Given the description of an element on the screen output the (x, y) to click on. 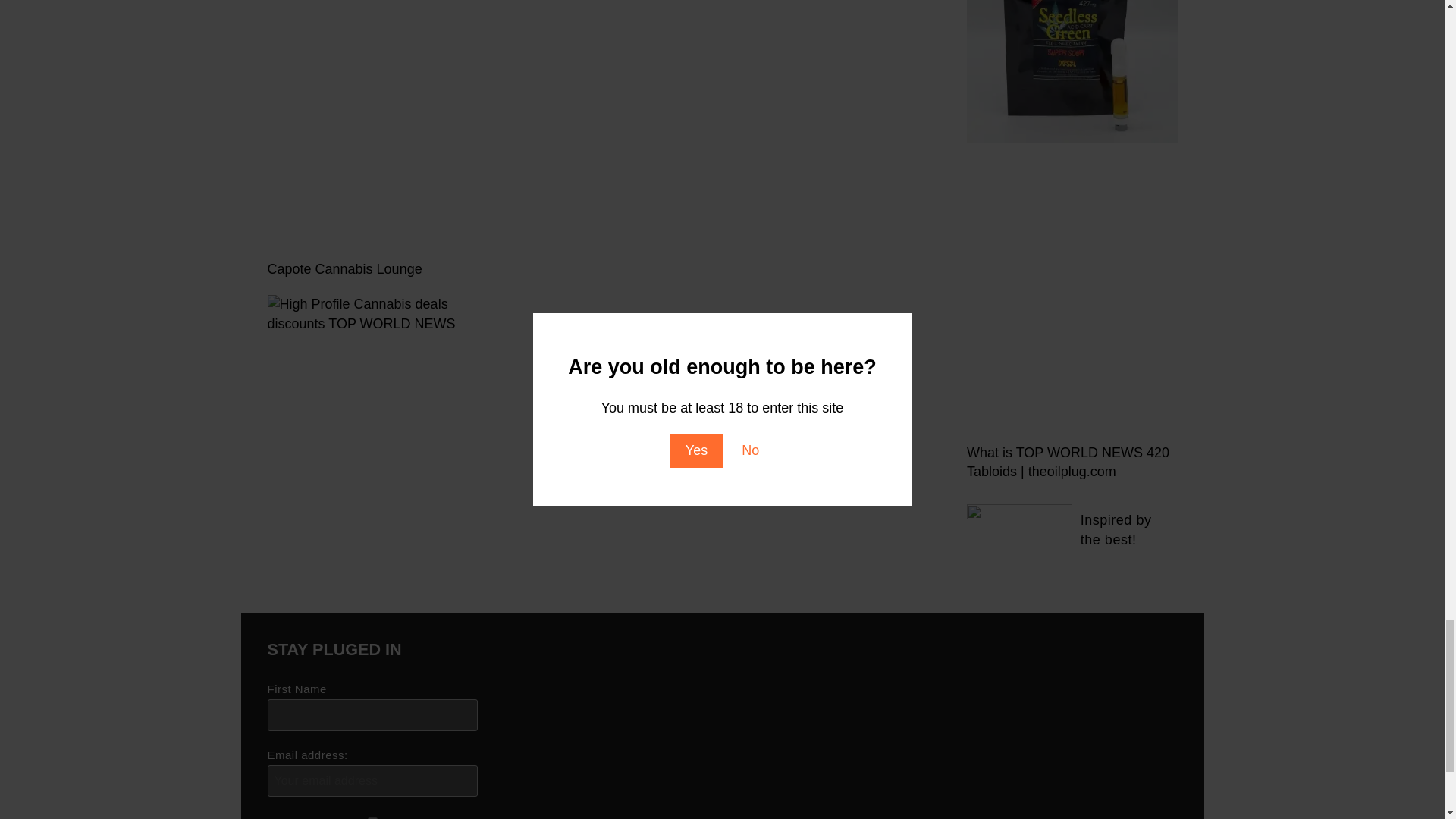
May 27, 2023 (838, 735)
